Given the description of an element on the screen output the (x, y) to click on. 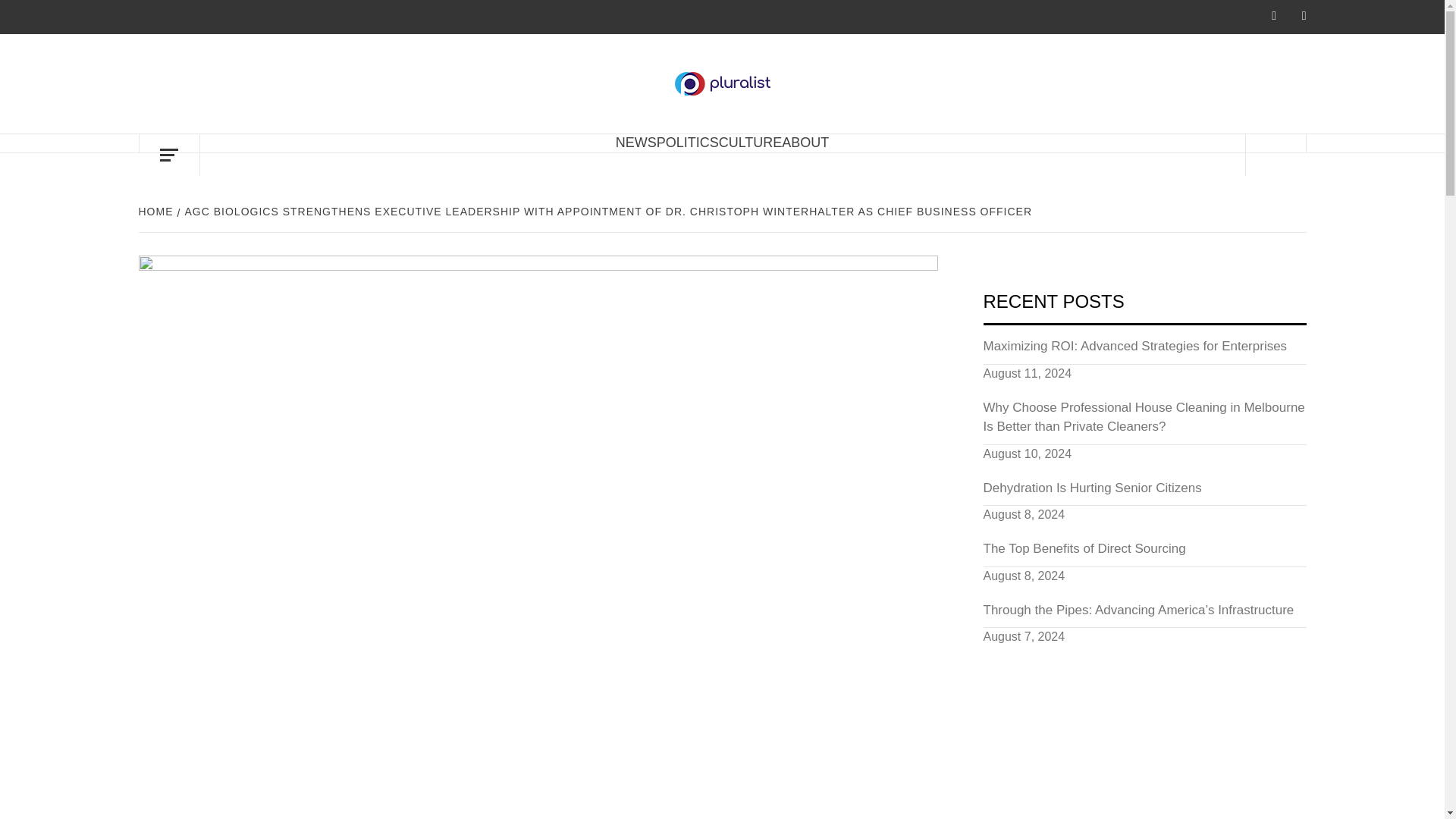
ABOUT (804, 142)
NEWS (635, 142)
The Top Benefits of Direct Sourcing (1144, 552)
Maximizing ROI: Advanced Strategies for Enterprises (1144, 350)
Dehydration Is Hurting Senior Citizens (1144, 492)
POLITICS (687, 142)
CULTURE (751, 142)
PLURALIST (872, 95)
